Given the description of an element on the screen output the (x, y) to click on. 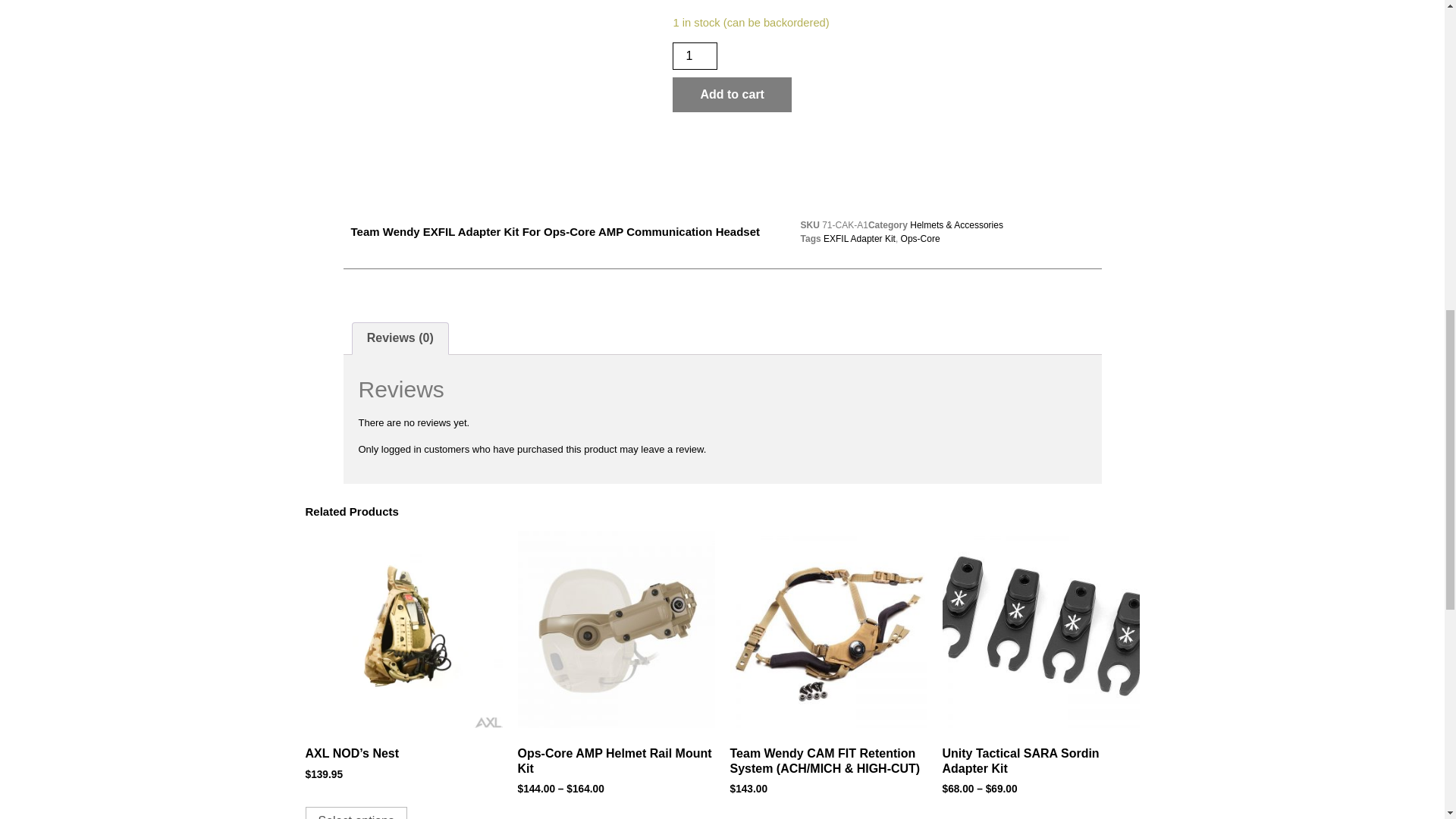
1 (694, 55)
